Given the description of an element on the screen output the (x, y) to click on. 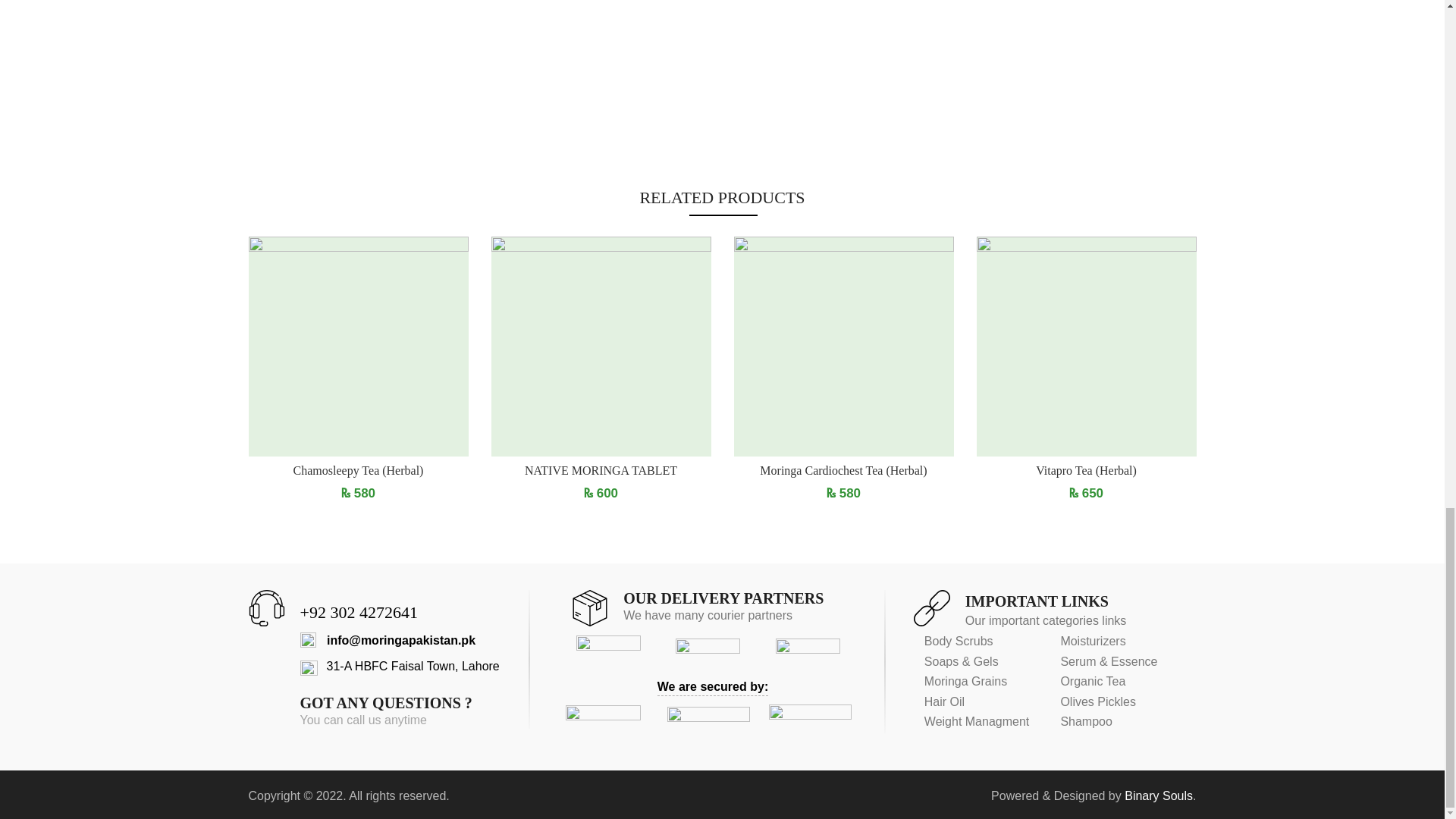
bykia-final (608, 652)
comodo-seal (809, 721)
mc (707, 721)
MP (707, 651)
Best in Busines (1158, 795)
Norton-Secured (603, 721)
call-courier (808, 652)
